Given the description of an element on the screen output the (x, y) to click on. 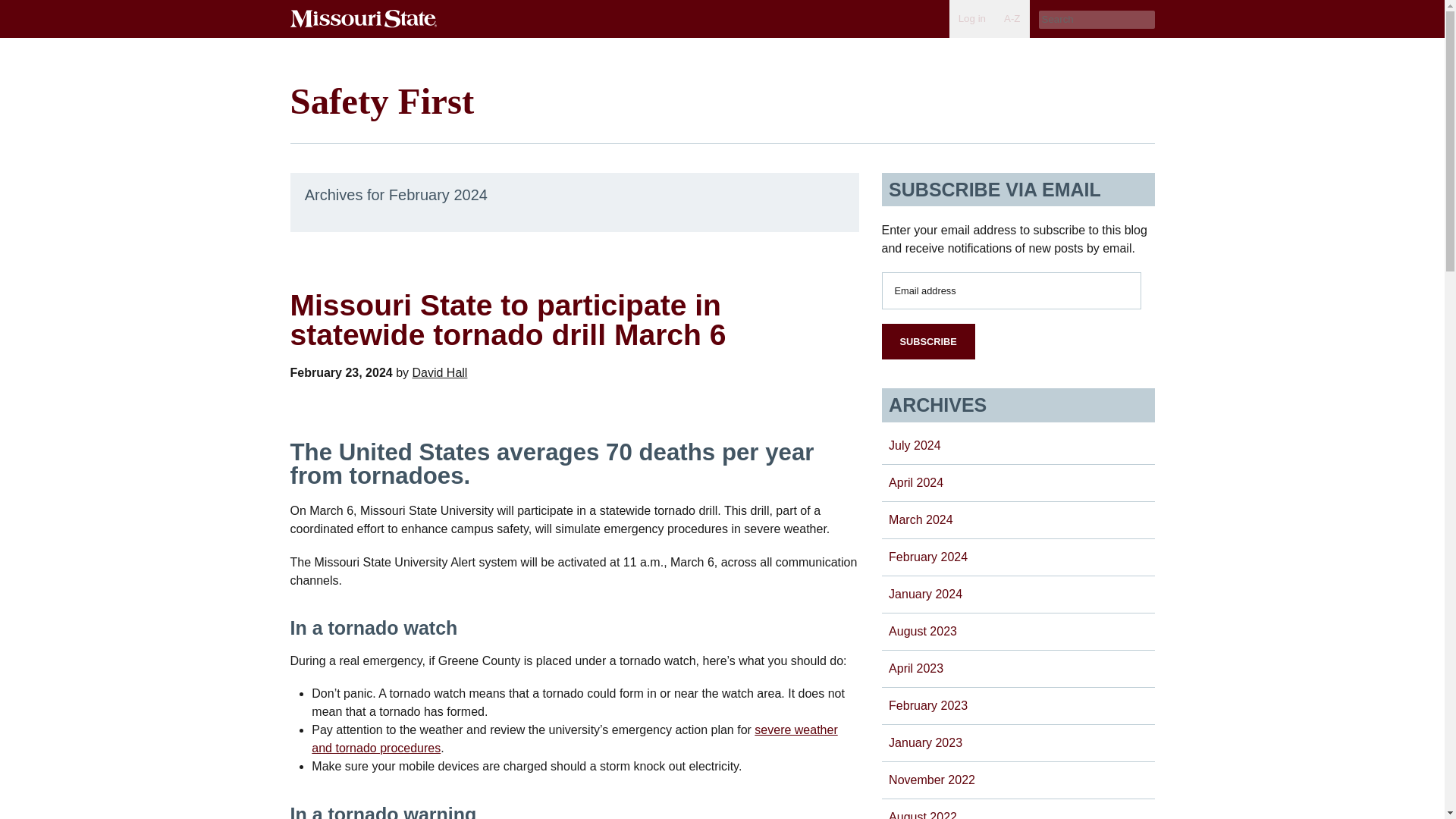
severe weather and tornado procedures (574, 738)
David Hall (439, 372)
A-Z (1011, 18)
Safety First (381, 101)
Log in (971, 18)
